Given the description of an element on the screen output the (x, y) to click on. 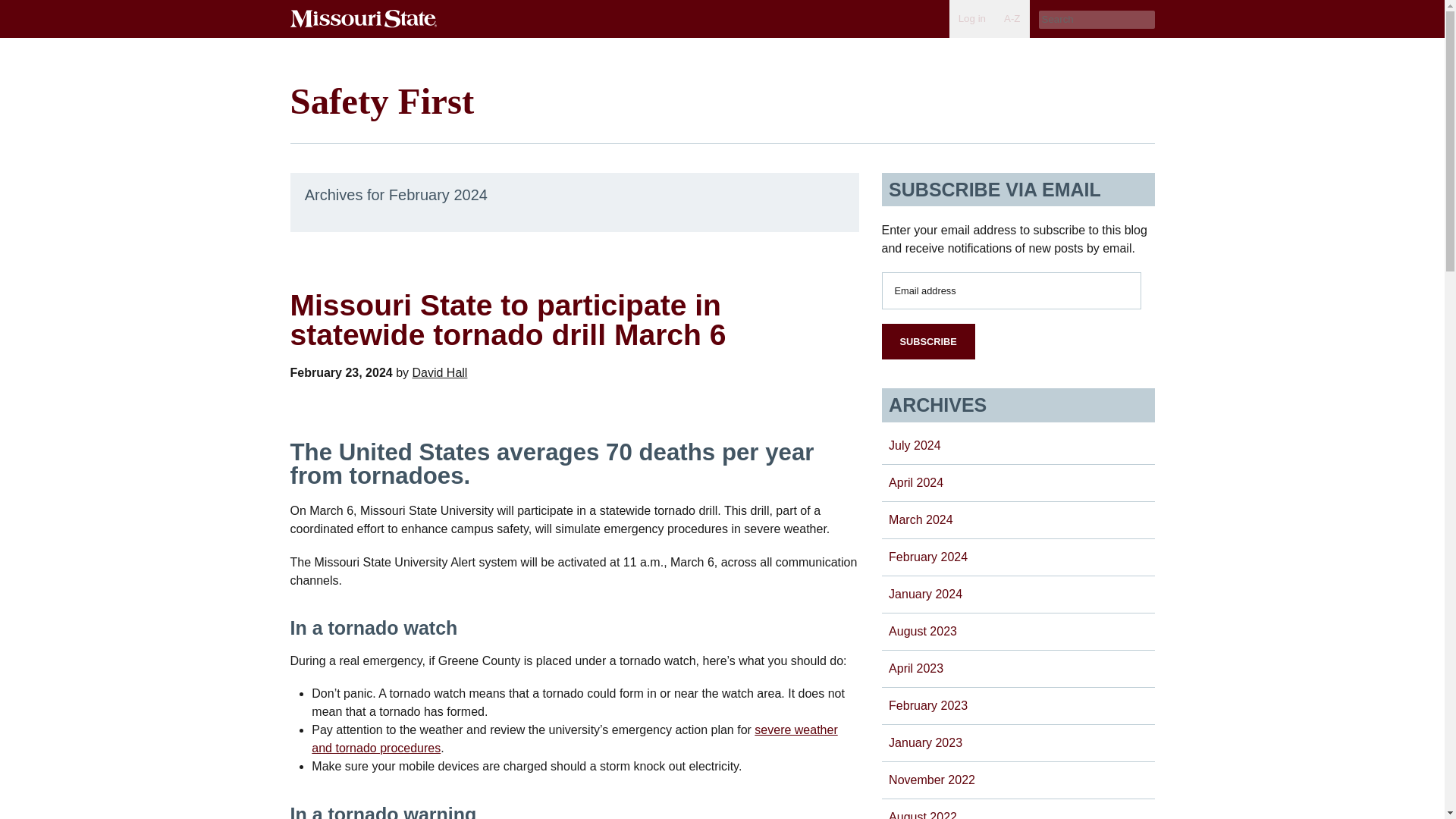
severe weather and tornado procedures (574, 738)
David Hall (439, 372)
A-Z (1011, 18)
Safety First (381, 101)
Log in (971, 18)
